Given the description of an element on the screen output the (x, y) to click on. 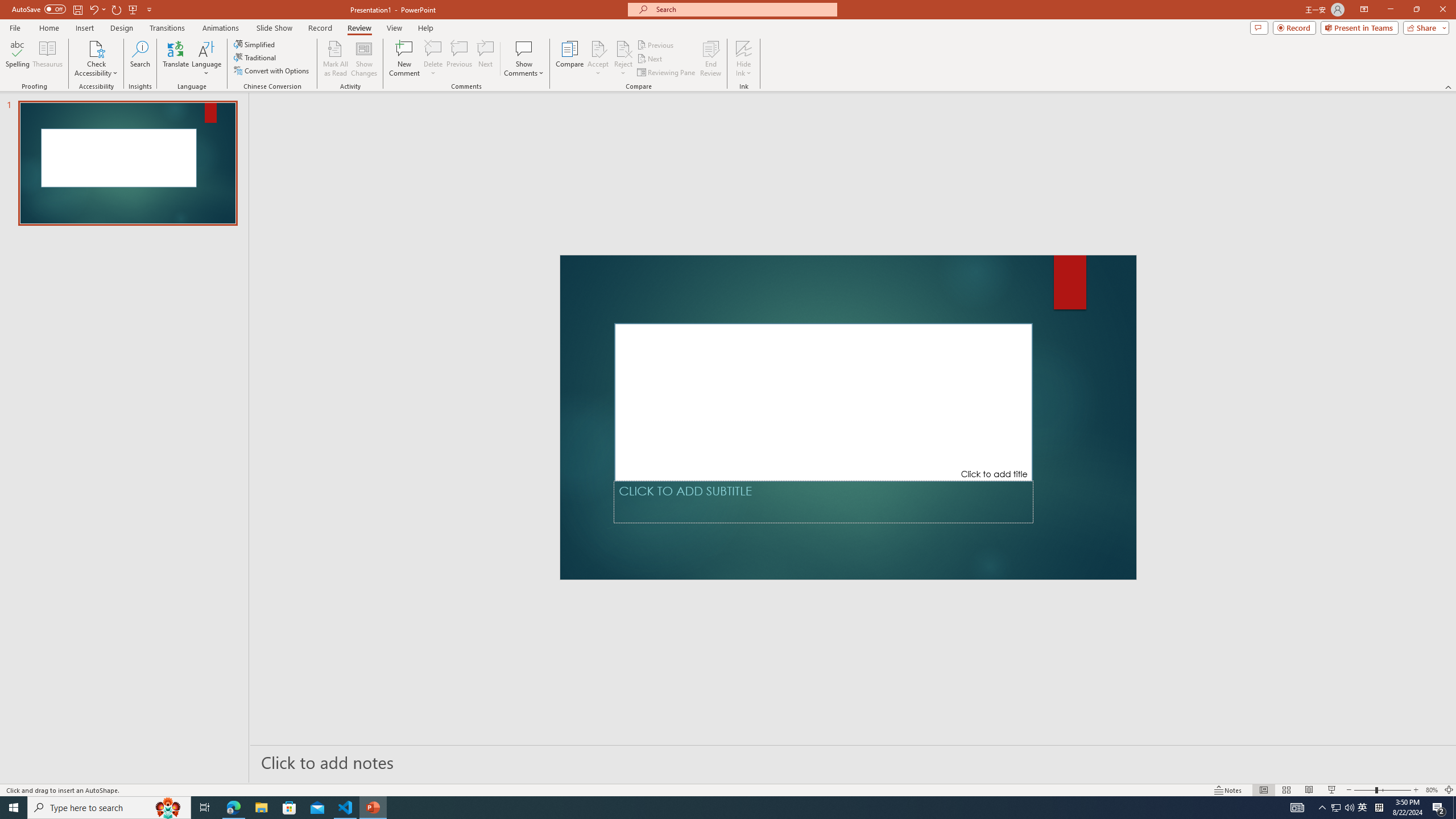
Review (359, 28)
Ribbon Display Options (1364, 9)
Design (122, 28)
Transitions (167, 28)
Slide Notes (852, 761)
Show Comments (524, 48)
Close (1442, 9)
Zoom Out (1364, 790)
Reject Change (622, 48)
Share (1423, 27)
End Review (710, 58)
View (395, 28)
Title TextBox (823, 401)
